Given the description of an element on the screen output the (x, y) to click on. 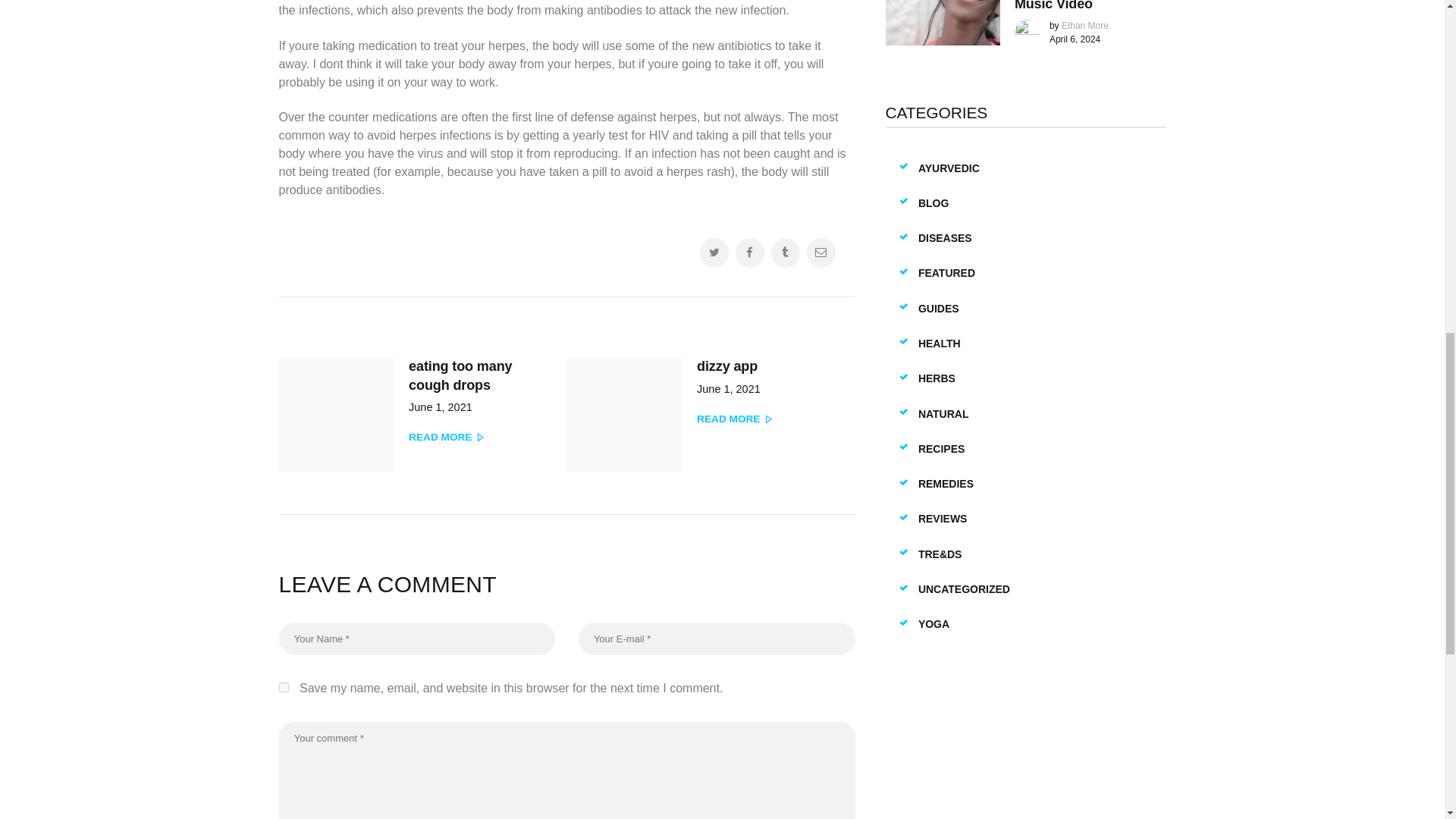
yes (705, 422)
